Given the description of an element on the screen output the (x, y) to click on. 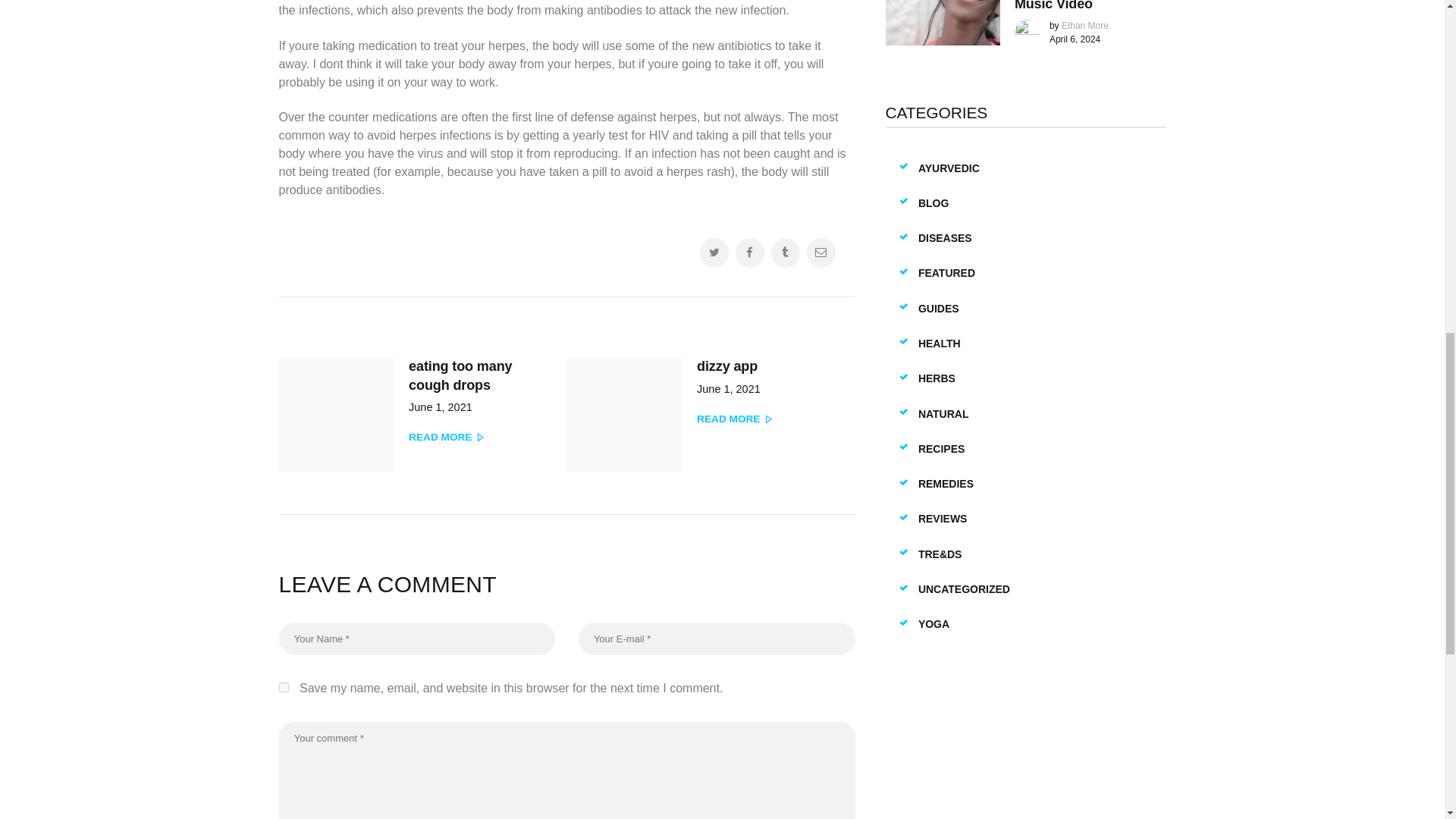
yes (705, 422)
